Given the description of an element on the screen output the (x, y) to click on. 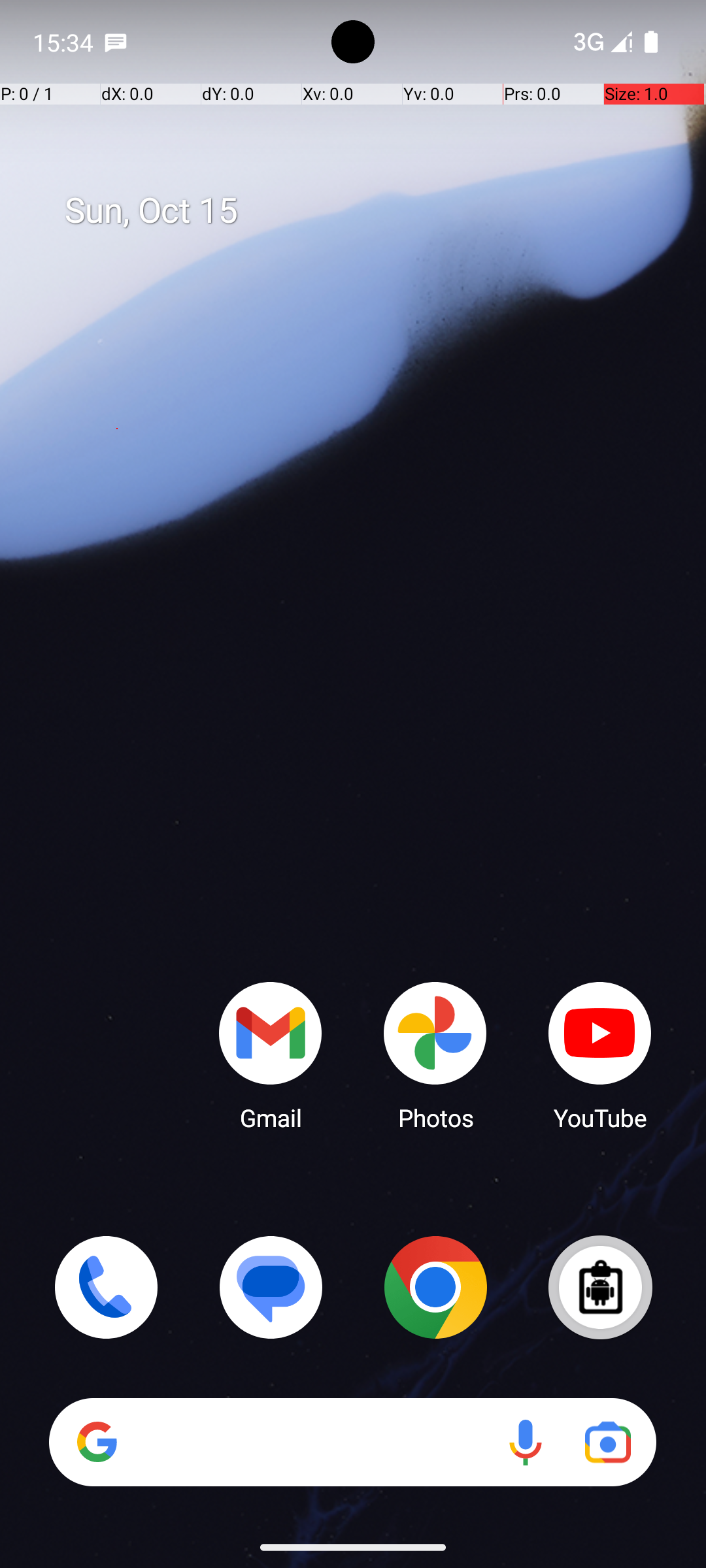
Clipper Element type: android.widget.TextView (599, 1287)
